Given the description of an element on the screen output the (x, y) to click on. 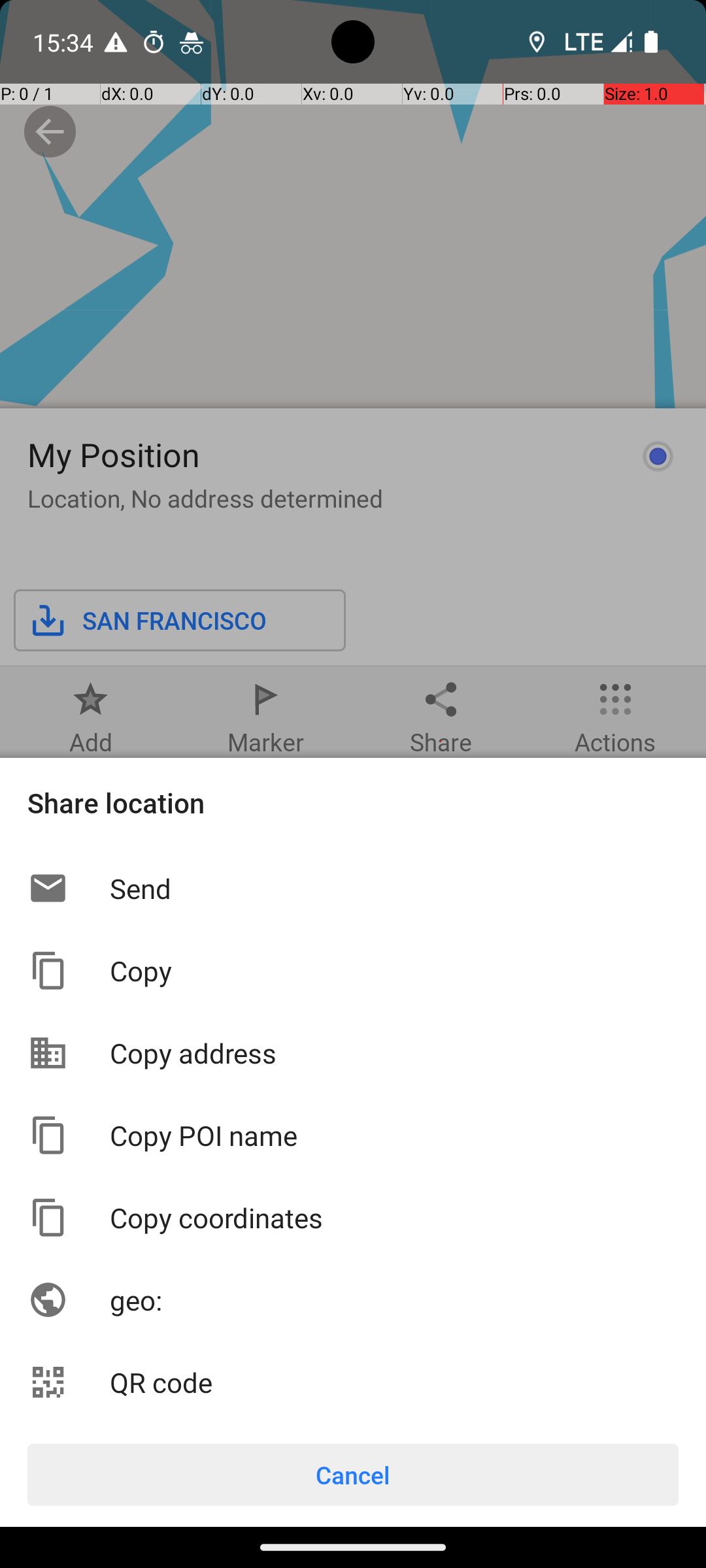
Close the dialog Element type: android.view.View (353, 407)
Share location Element type: android.widget.TextView (353, 802)
Send Element type: android.widget.TextView (393, 887)
Copy Element type: android.widget.TextView (393, 970)
Copy address Element type: android.widget.TextView (393, 1052)
Copy POI name Element type: android.widget.TextView (393, 1134)
Copy coordinates Element type: android.widget.TextView (393, 1217)
geo: Element type: android.widget.TextView (393, 1299)
QR code Element type: android.widget.TextView (393, 1381)
